Given the description of an element on the screen output the (x, y) to click on. 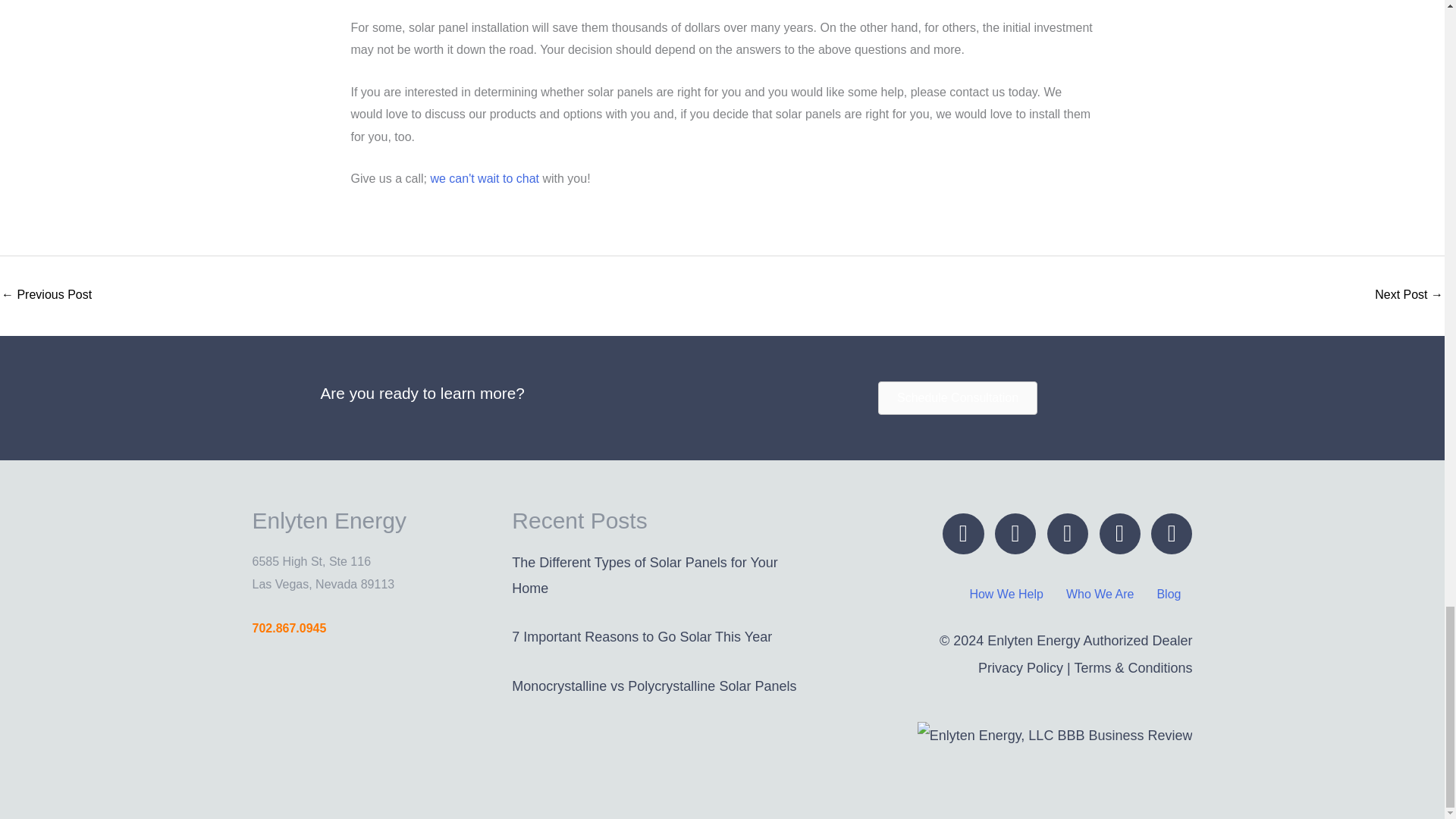
How We Help (1005, 594)
The Different Types of Solar Panels for Your Home (644, 575)
The Long Term Impact Of Solar Power On My Household (1408, 295)
Monocrystalline vs Polycrystalline Solar Panels (654, 685)
702.867.0945 (288, 626)
7 Important Reasons to Go Solar This Year (641, 636)
we can't wait to chat (483, 178)
Schedule Consultation (956, 397)
